Given the description of an element on the screen output the (x, y) to click on. 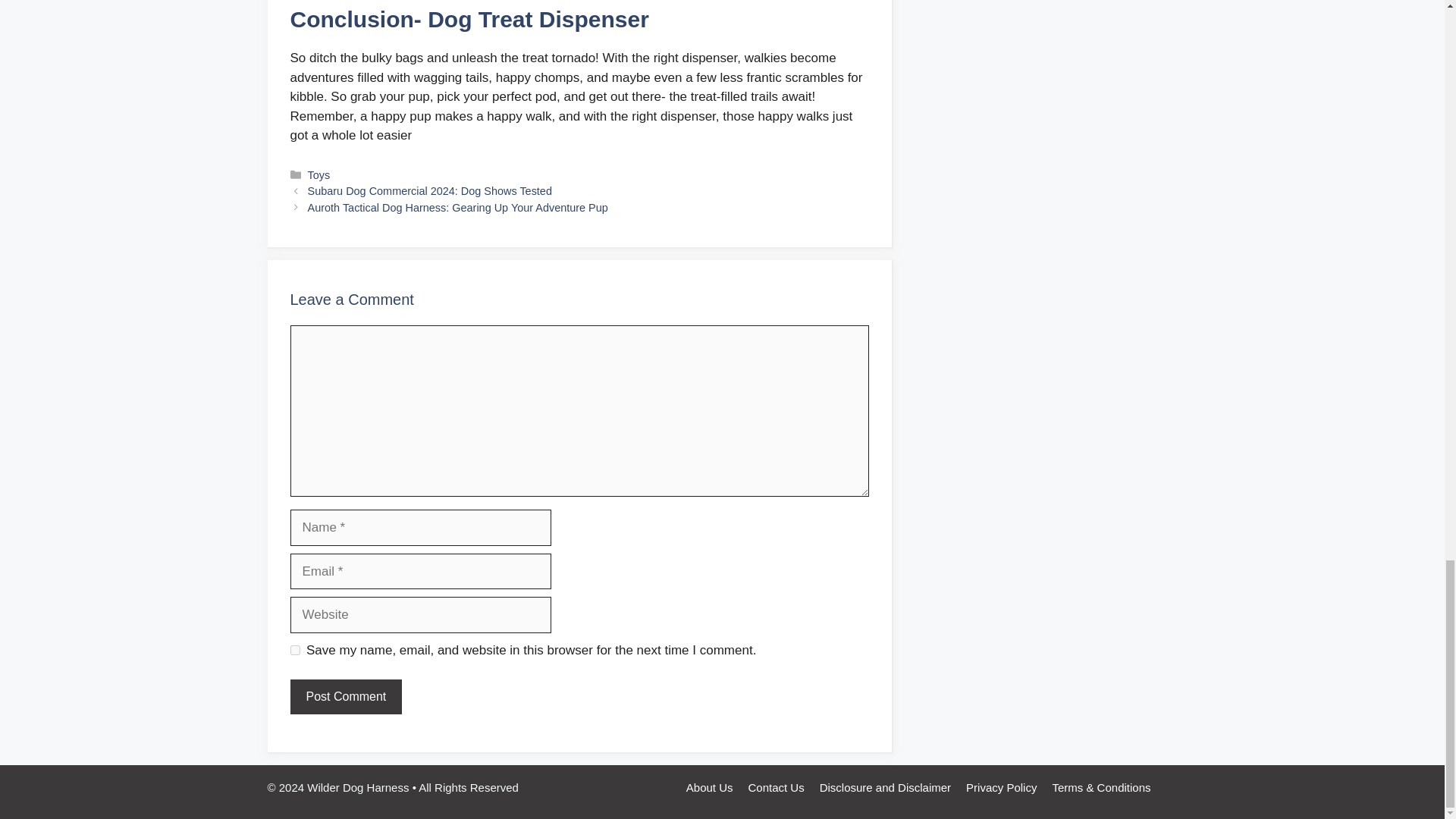
Subaru Dog Commercial 2024: Dog Shows Tested (429, 191)
Auroth Tactical Dog Harness: Gearing Up Your Adventure Pup (457, 207)
yes (294, 650)
Post Comment (345, 696)
Post Comment (345, 696)
Toys (318, 174)
